Given the description of an element on the screen output the (x, y) to click on. 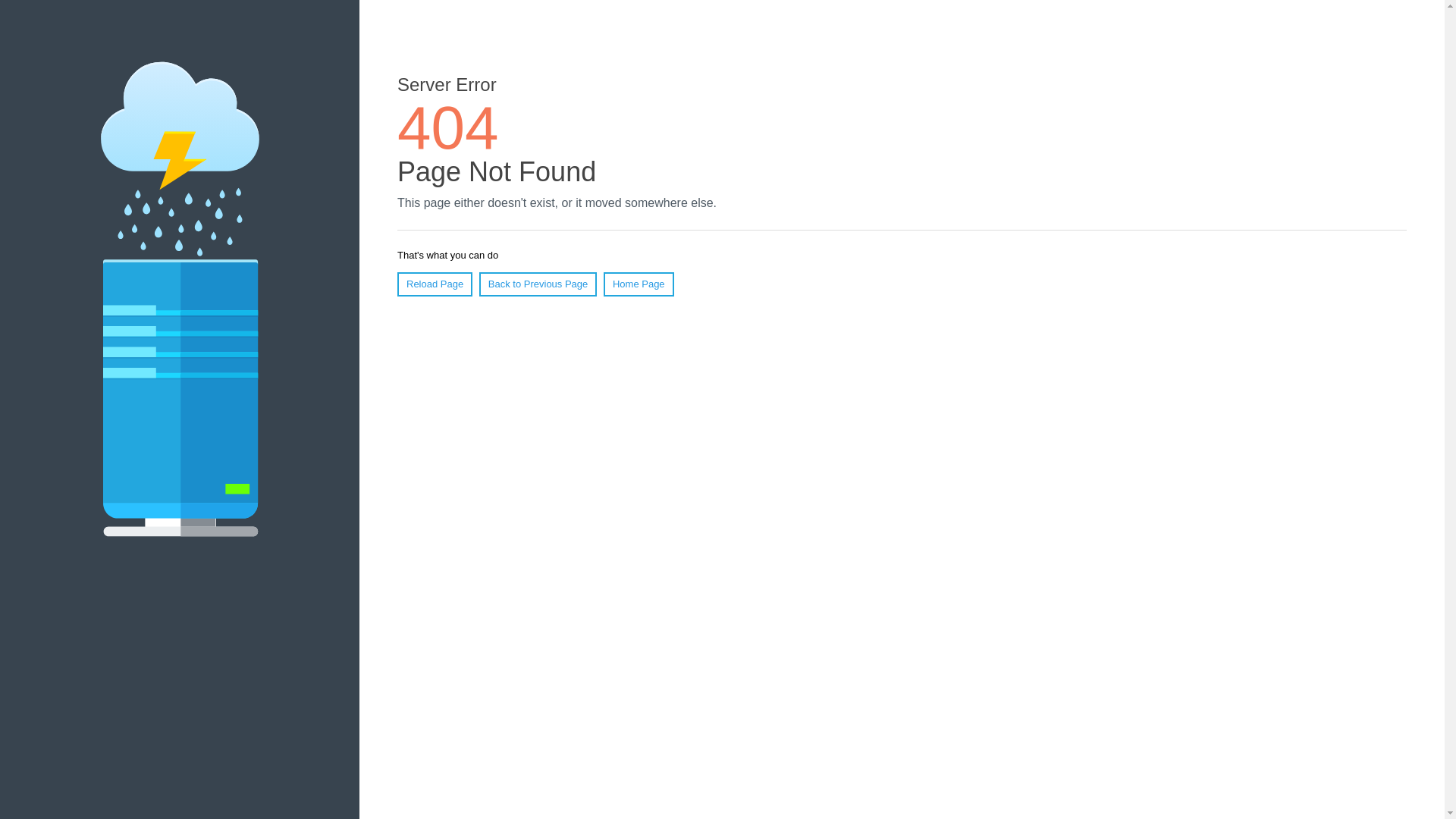
Reload Page Element type: text (434, 284)
Back to Previous Page Element type: text (538, 284)
Home Page Element type: text (638, 284)
